Given the description of an element on the screen output the (x, y) to click on. 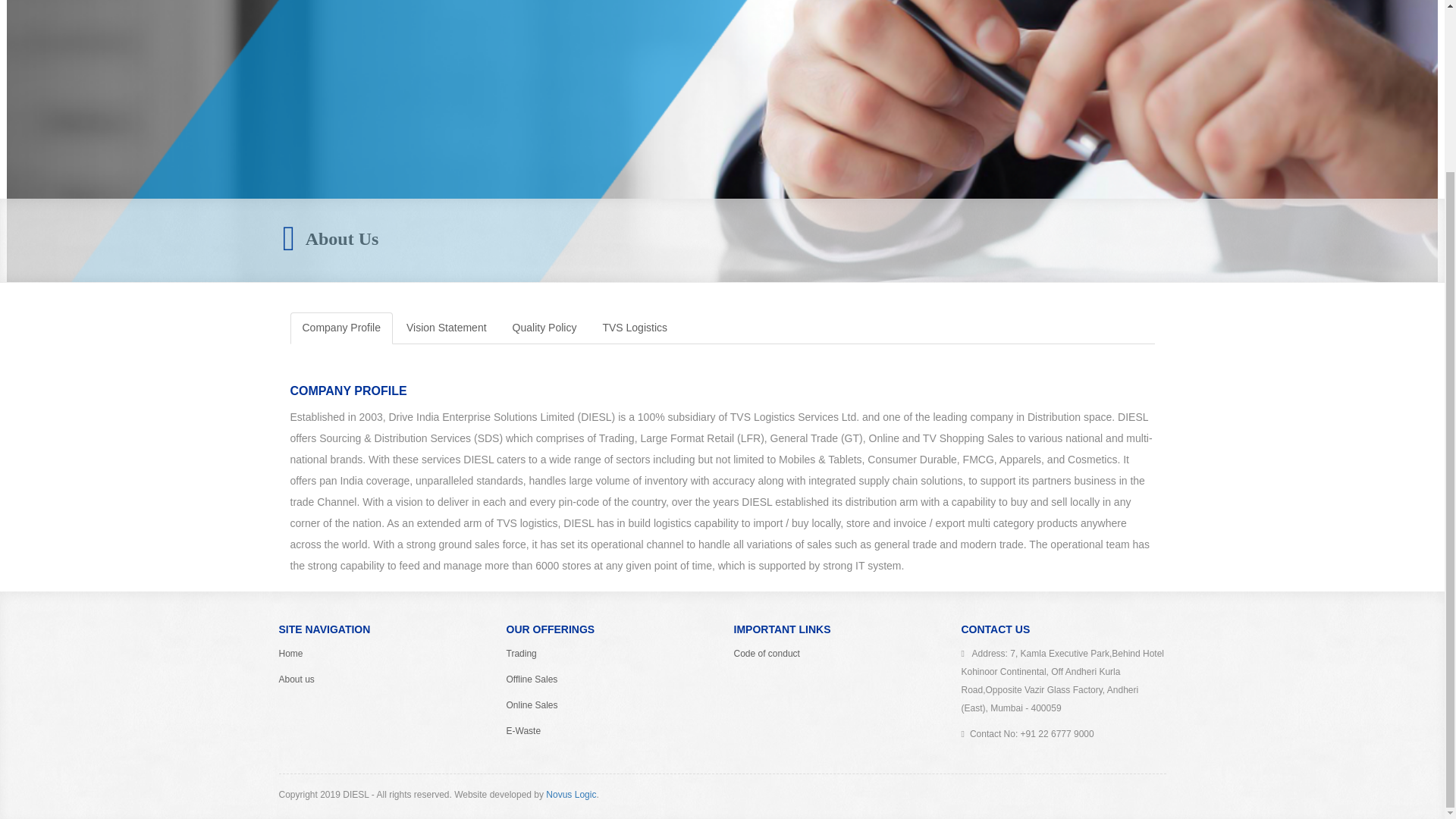
Trading (521, 653)
Quality Policy (544, 327)
Company Profile (341, 327)
Code of conduct (766, 653)
About us (296, 679)
E-Waste (523, 730)
TVS Logistics (634, 327)
Home (290, 653)
Online Sales (531, 705)
Novus Logic (570, 794)
